Given the description of an element on the screen output the (x, y) to click on. 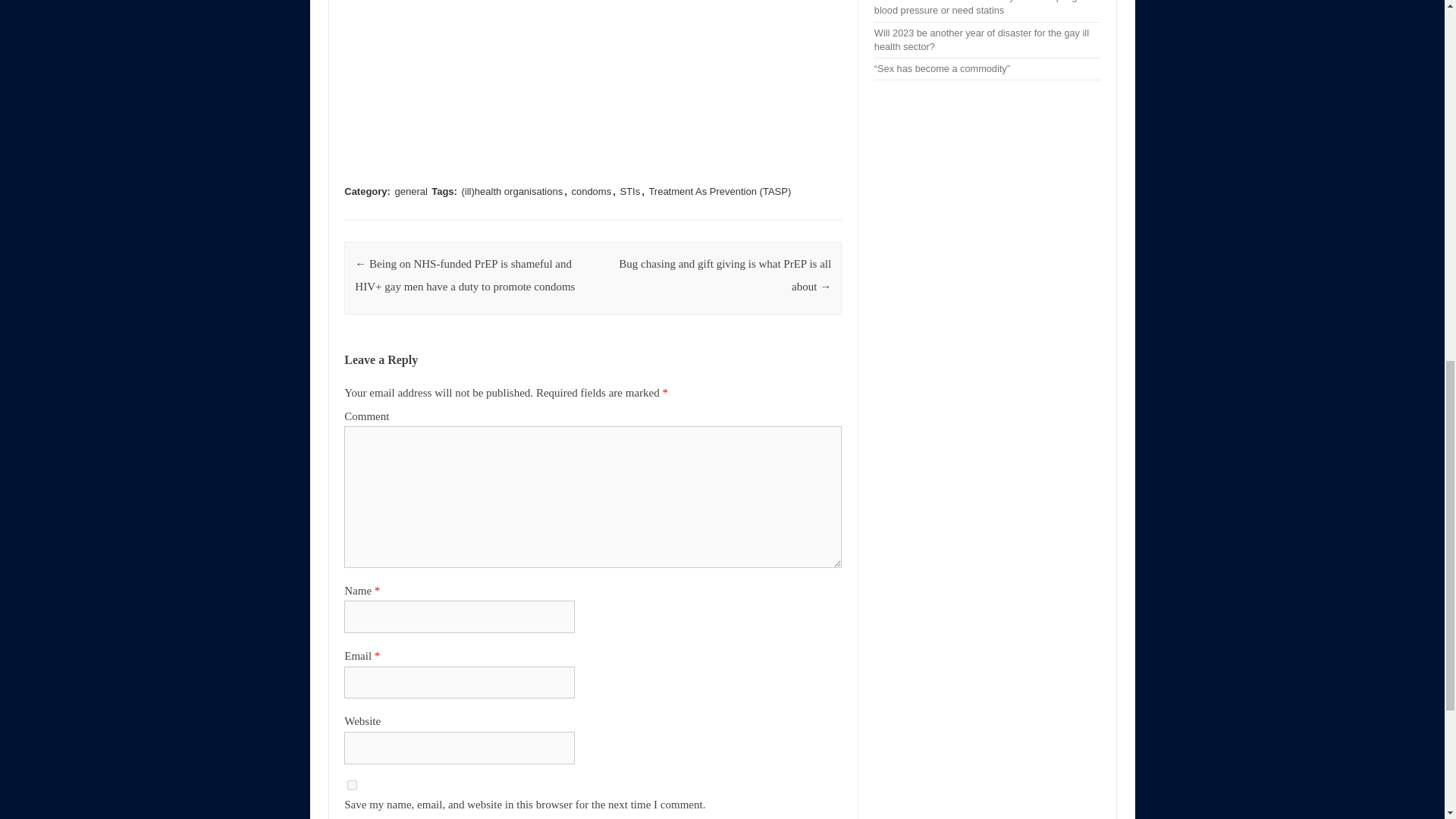
condoms (590, 191)
general (411, 191)
STIs (629, 191)
yes (351, 785)
